Given the description of an element on the screen output the (x, y) to click on. 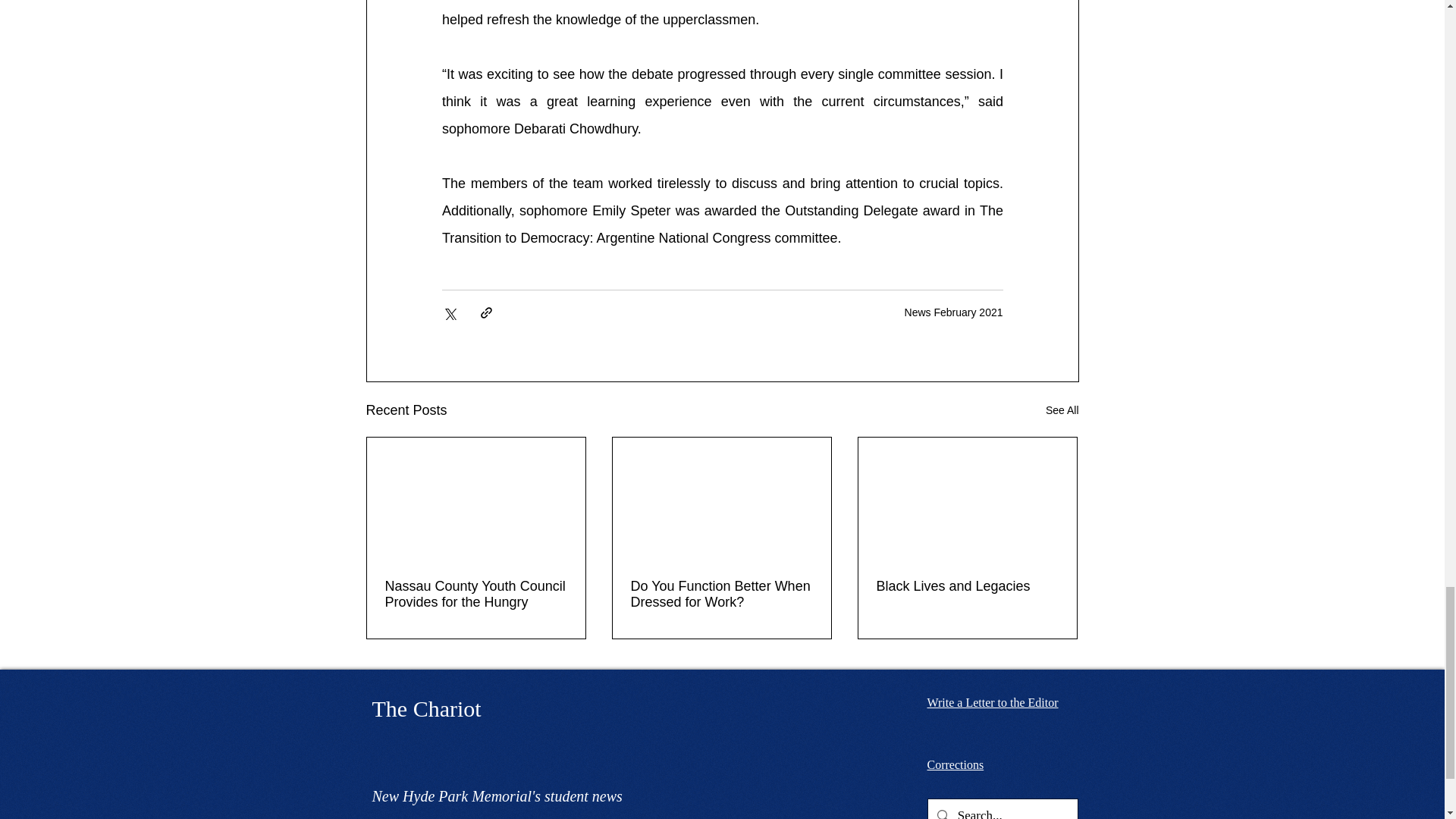
See All (1061, 409)
Do You Function Better When Dressed for Work? (721, 593)
Write a Letter to the Editor (992, 702)
Black Lives and Legacies (967, 585)
News February 2021 (953, 312)
Nassau County Youth Council Provides for the Hungry (476, 593)
Corrections (955, 764)
